Given the description of an element on the screen output the (x, y) to click on. 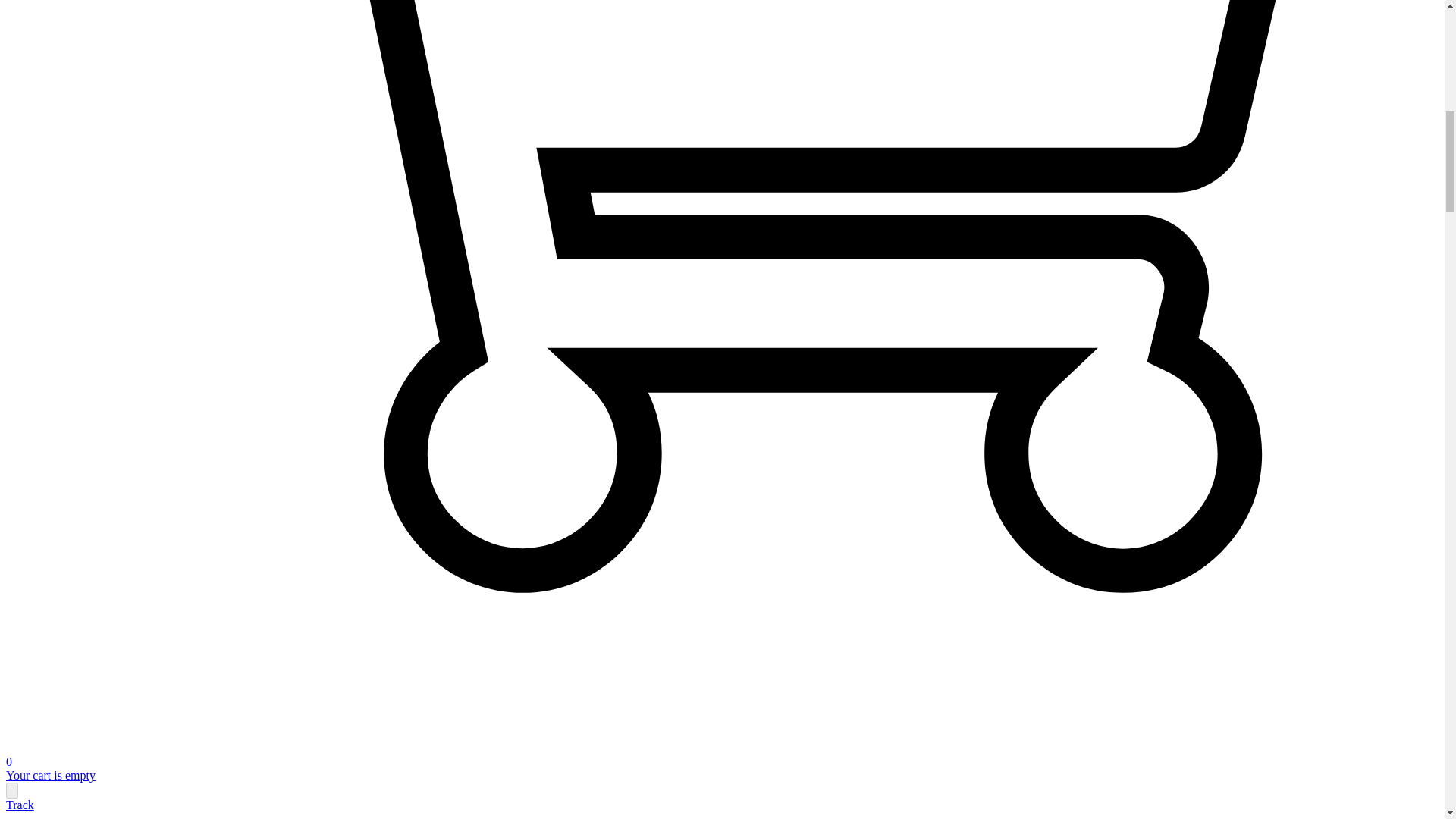
Your cart is empty (50, 775)
Track (19, 804)
Search (11, 790)
